Given the description of an element on the screen output the (x, y) to click on. 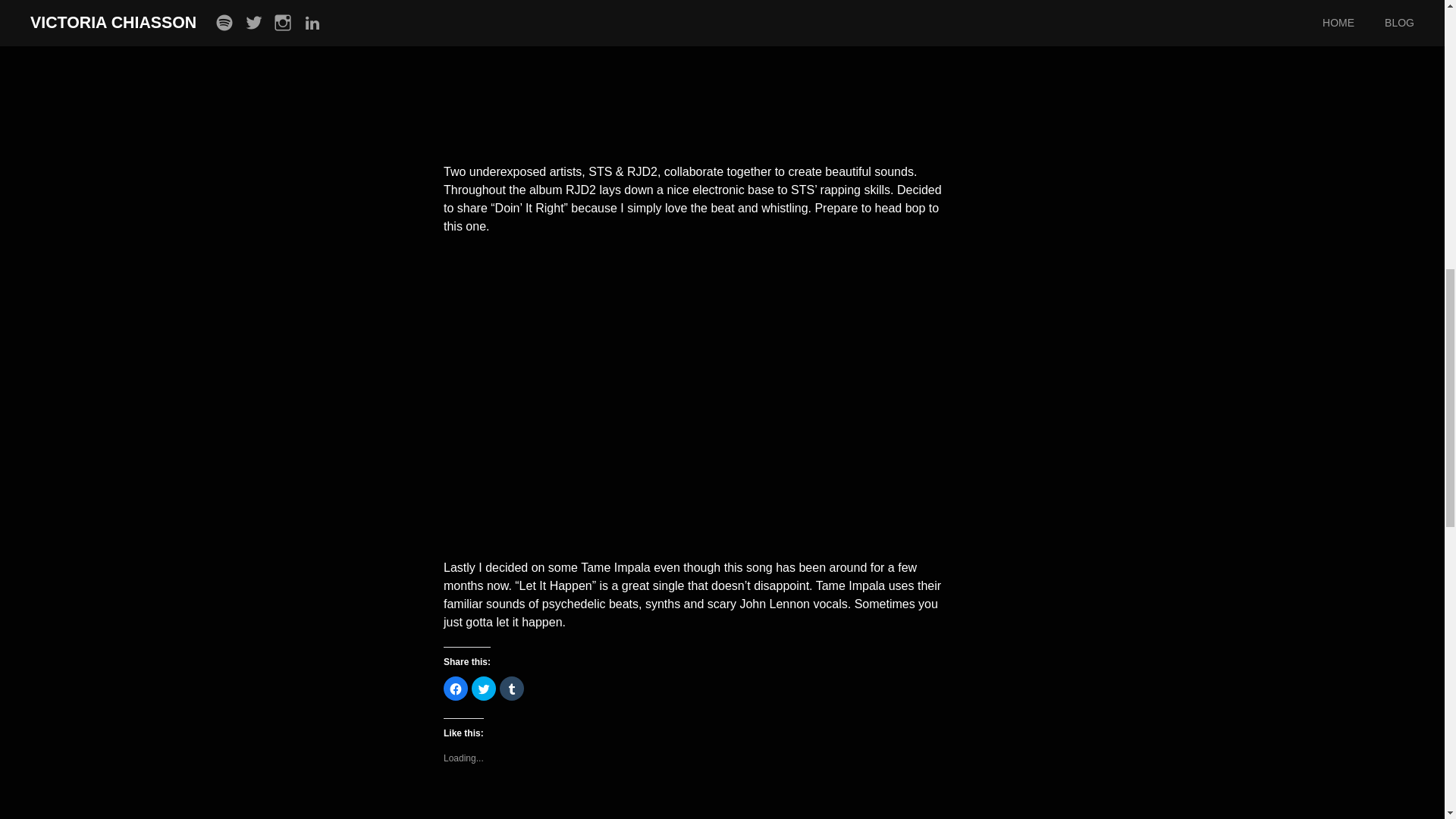
Click to share on Facebook (455, 688)
Click to share on Tumblr (511, 688)
Click to share on Twitter (483, 688)
